Given the description of an element on the screen output the (x, y) to click on. 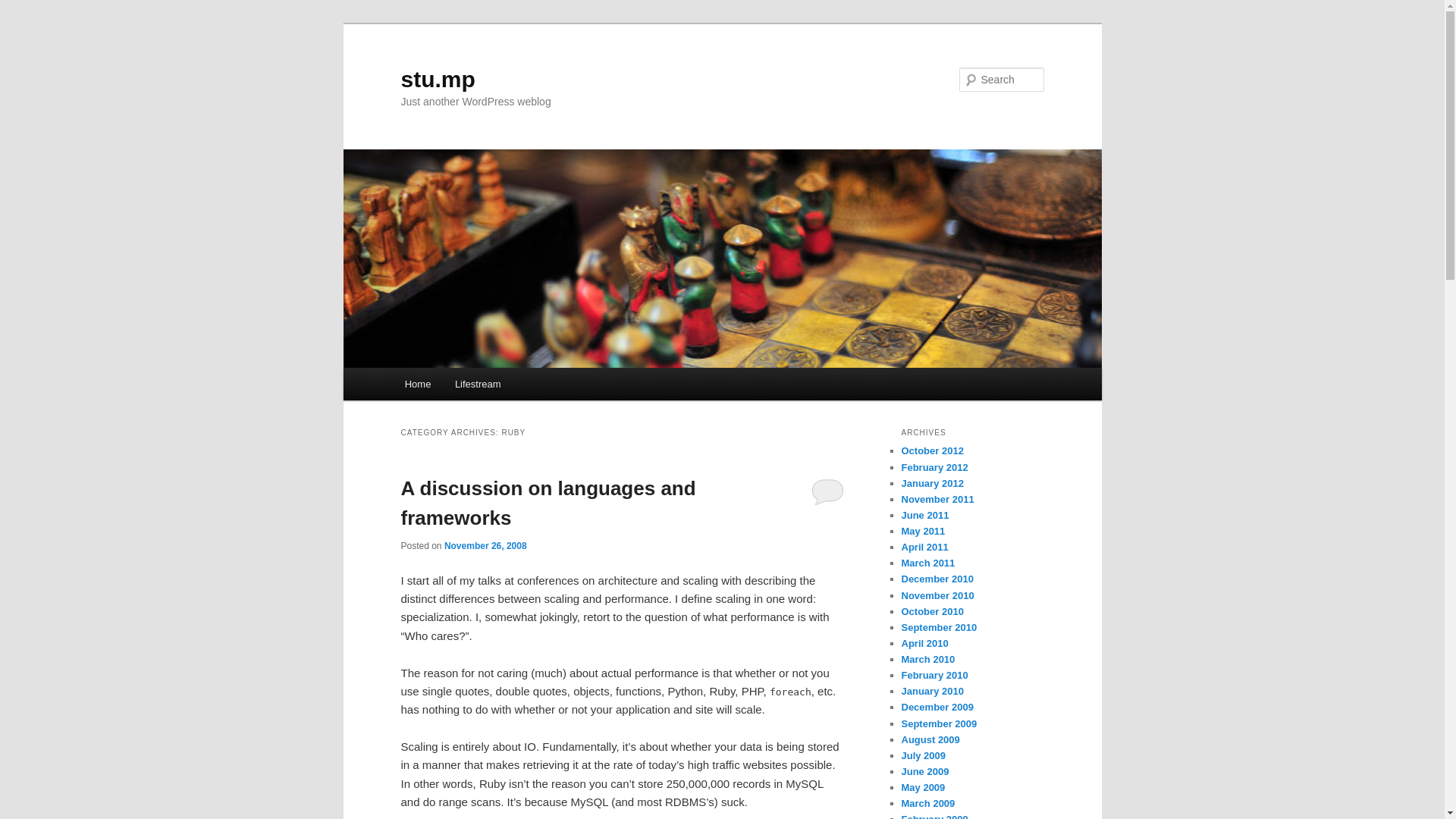
April 2011 (924, 546)
February 2010 (934, 674)
A discussion on languages and frameworks (547, 502)
September 2009 (938, 723)
March 2010 (928, 659)
Lifestream (477, 383)
May 2009 (922, 787)
December 2009 (936, 706)
stu.mp (437, 78)
October 2010 (931, 611)
